Given the description of an element on the screen output the (x, y) to click on. 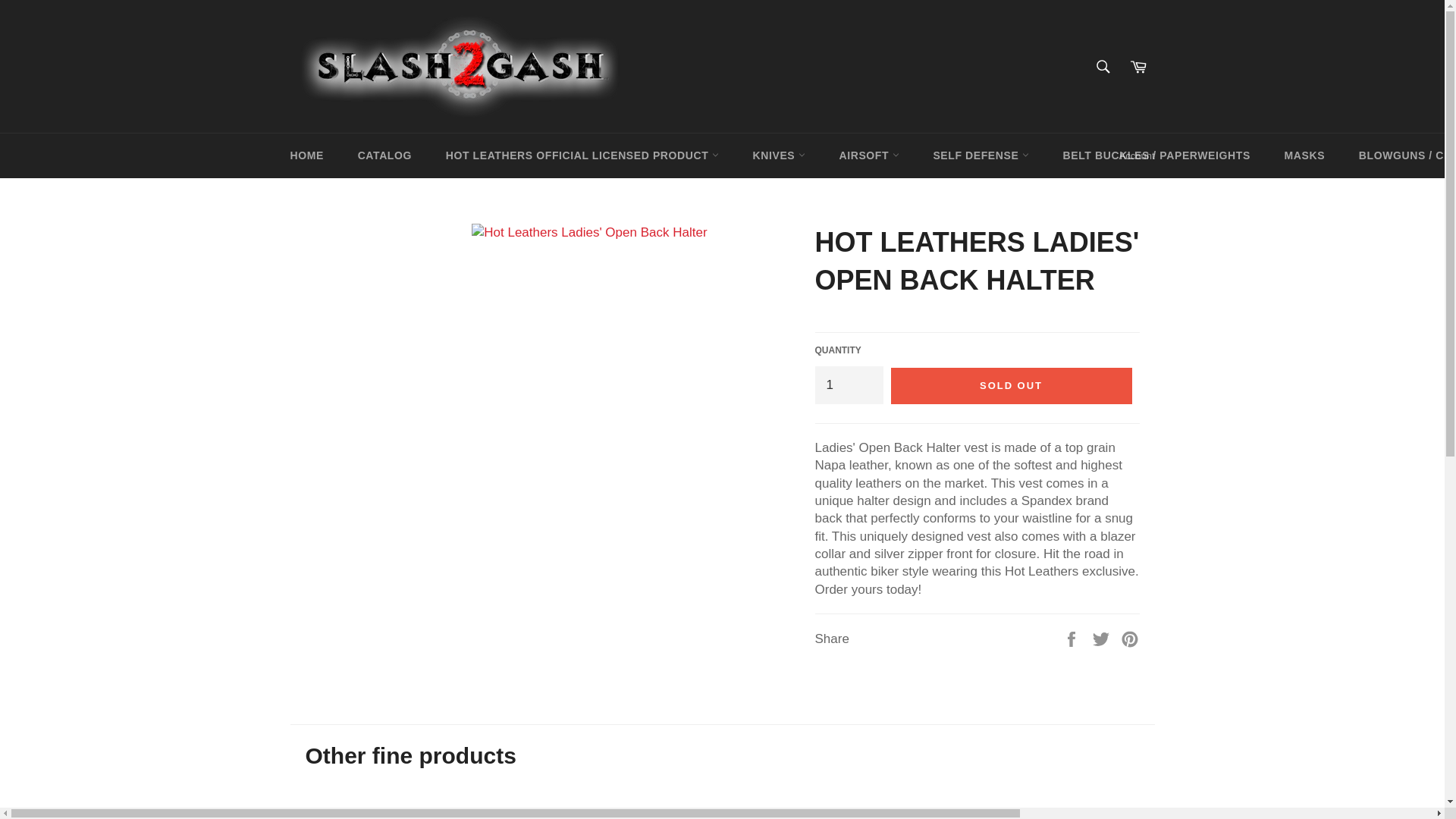
Tweet on Twitter (1102, 637)
Share on Facebook (1073, 637)
Pin on Pinterest (1129, 637)
1 (847, 384)
